Given the description of an element on the screen output the (x, y) to click on. 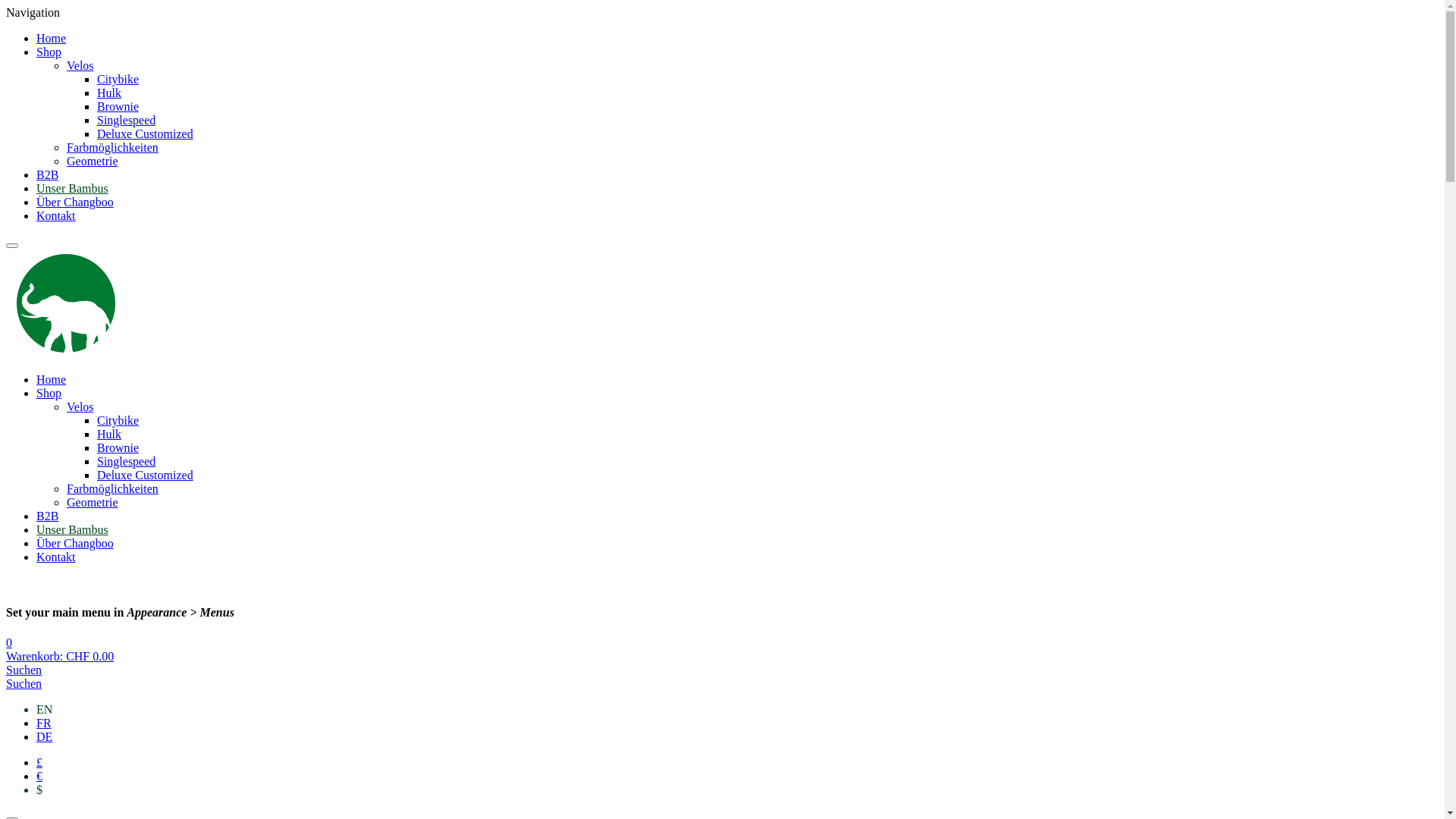
Citybike Element type: text (117, 420)
Citybike Element type: text (117, 78)
Velos Element type: text (80, 65)
Unser Bambus Element type: text (72, 529)
Geometrie Element type: text (92, 160)
Deluxe Customized Element type: text (145, 474)
B2B Element type: text (47, 174)
Brownie Element type: text (117, 106)
Unser Bambus Element type: text (72, 188)
Suchen Element type: text (23, 669)
B2B Element type: text (47, 515)
DE Element type: text (44, 736)
Shop Element type: text (48, 51)
FR Element type: text (43, 722)
Brownie Element type: text (117, 447)
Kontakt Element type: text (55, 556)
Singlespeed Element type: text (126, 461)
Home Element type: text (50, 379)
Shop Element type: text (48, 392)
Geometrie Element type: text (92, 501)
Deluxe Customized Element type: text (145, 133)
Singlespeed Element type: text (126, 119)
Velos Element type: text (80, 406)
Home Element type: text (50, 37)
Suchen Element type: text (23, 683)
Hulk Element type: text (109, 433)
Kontakt Element type: text (55, 215)
Hulk Element type: text (109, 92)
0
Warenkorb: CHF 0.00 Element type: text (722, 649)
